Given the description of an element on the screen output the (x, y) to click on. 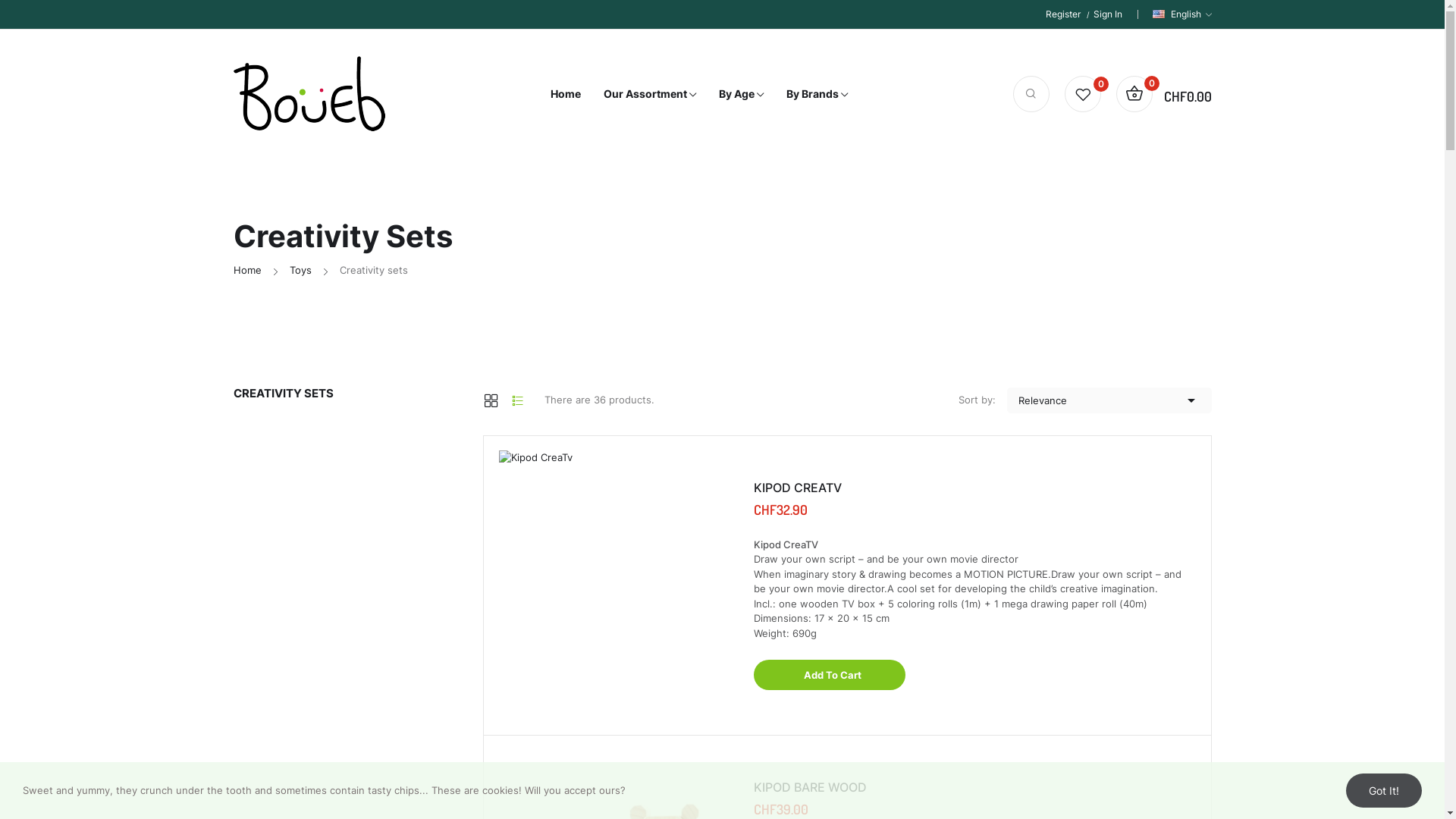
0
CHF0.00 Element type: text (1163, 93)
CREATIVITY SETS Element type: text (347, 392)
Sign In Element type: text (1107, 14)
(
0
) Element type: text (1082, 93)
English Element type: text (1181, 14)
By Brands Element type: text (816, 93)
By Age Element type: text (740, 93)
KIPOD CREATV Element type: text (974, 487)
Creativity sets Element type: text (373, 270)
Got It! Element type: text (1383, 790)
KIPOD BARE WOOD Element type: text (974, 786)
Our Assortment Element type: text (649, 93)
Add To Cart Element type: text (829, 674)
Register Element type: text (1068, 14)
Home Element type: text (565, 93)
Home Element type: text (247, 270)
Toys Element type: text (300, 270)
